Given the description of an element on the screen output the (x, y) to click on. 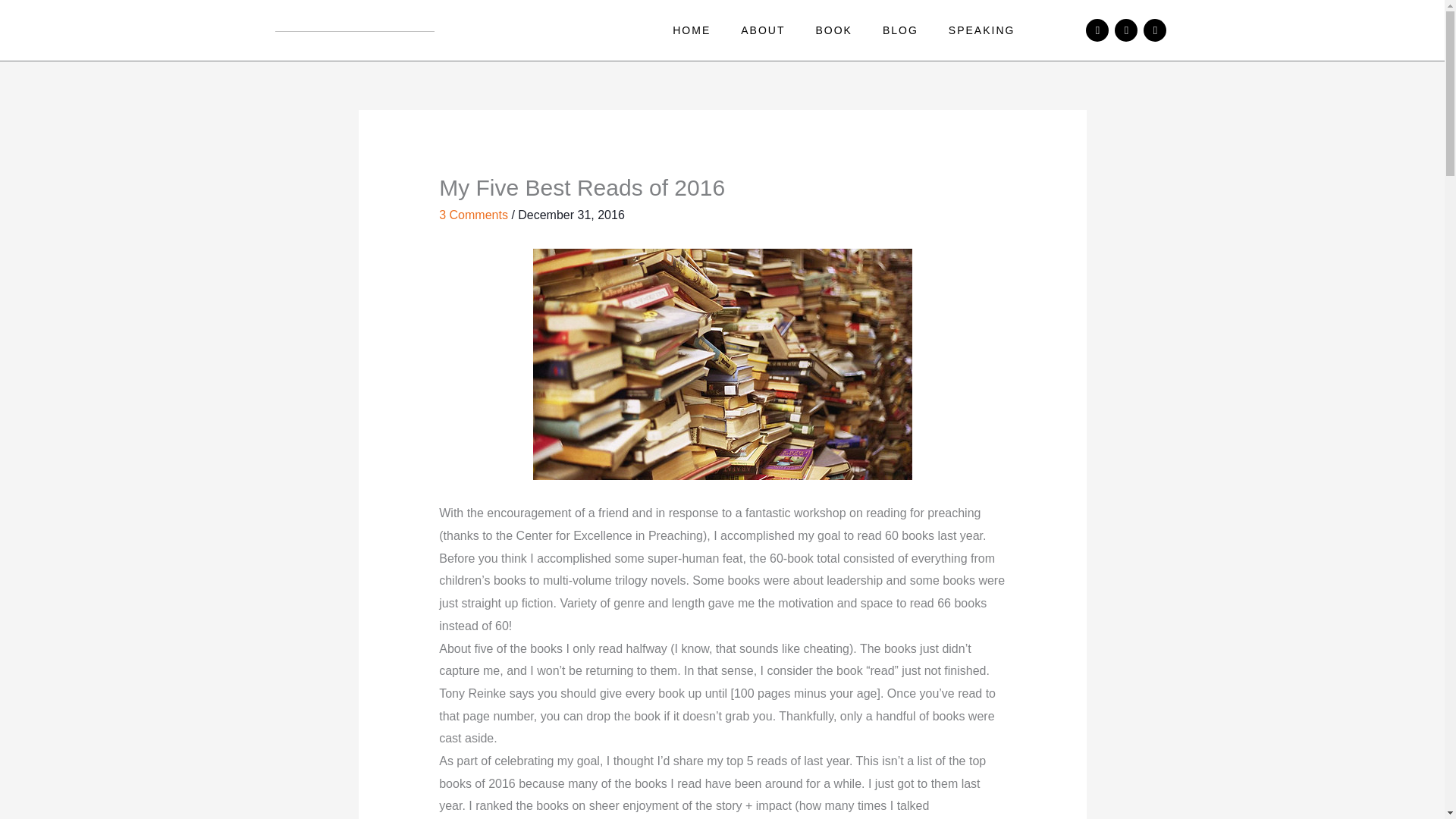
SPEAKING (981, 30)
BOOK (832, 30)
HOME (691, 30)
3 Comments (473, 214)
ABOUT (762, 30)
BLOG (900, 30)
